Given the description of an element on the screen output the (x, y) to click on. 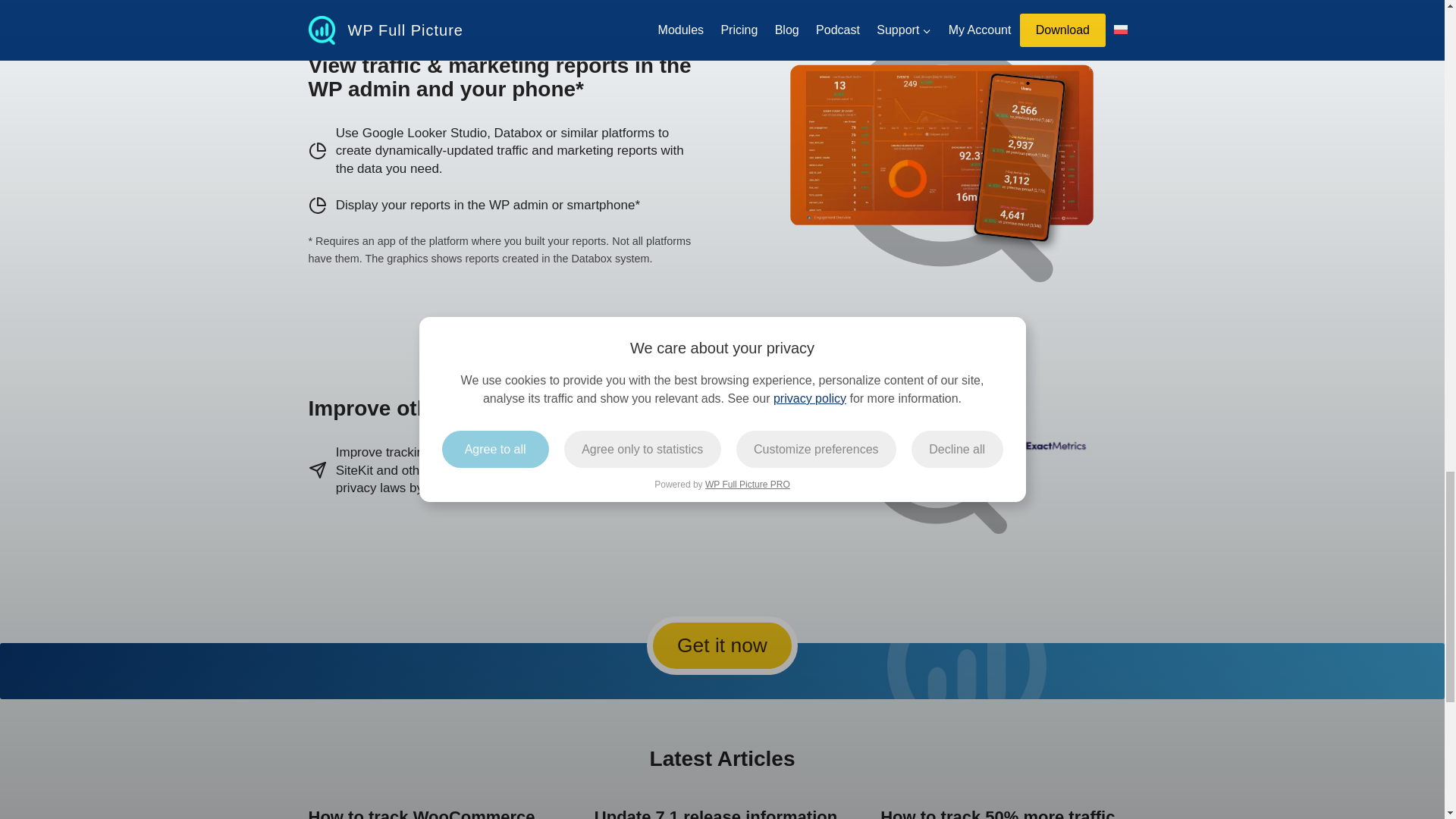
Get it now (721, 645)
Home 9 (828, 445)
Home 7 (941, 160)
Update 7.1 release information (715, 813)
